Given the description of an element on the screen output the (x, y) to click on. 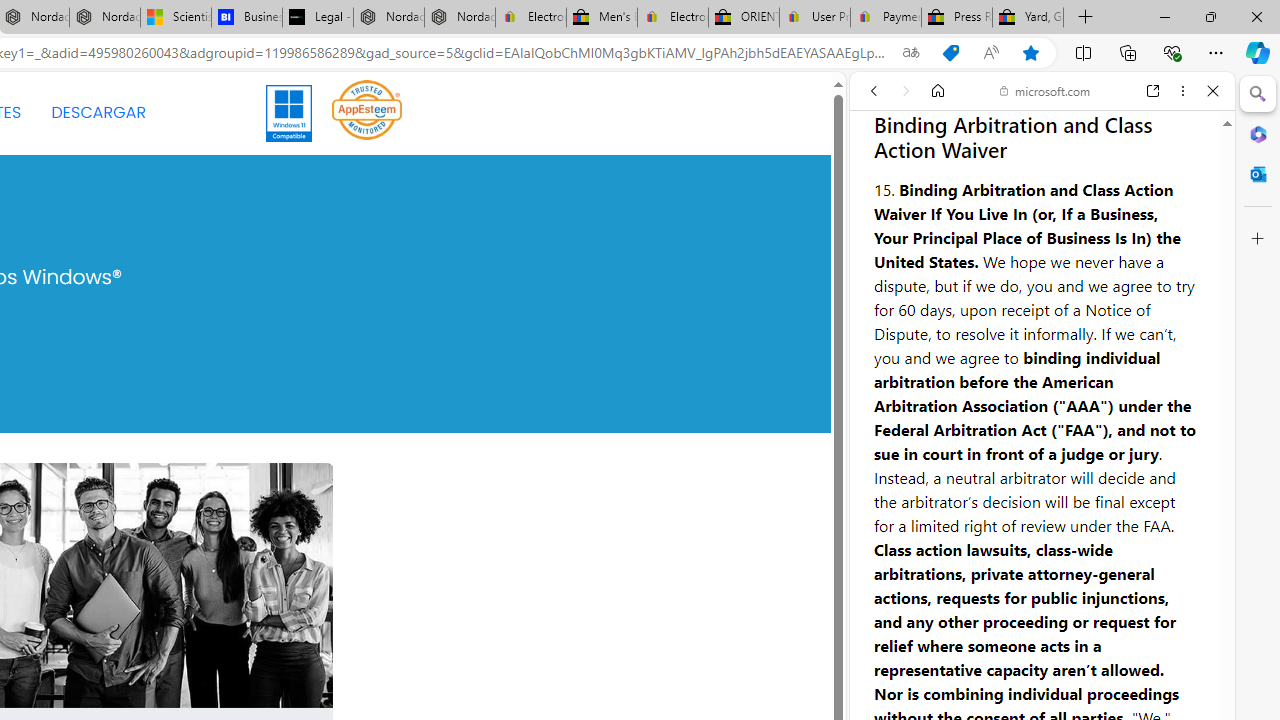
Home (938, 91)
Electronics, Cars, Fashion, Collectibles & More | eBay (672, 17)
Forward (906, 91)
User Privacy Notice | eBay (814, 17)
Windows 11 (289, 112)
Open link in new tab (1153, 91)
Outlook (1258, 174)
Shopping in Microsoft Edge (950, 53)
Minimize Search pane (1258, 94)
